Given the description of an element on the screen output the (x, y) to click on. 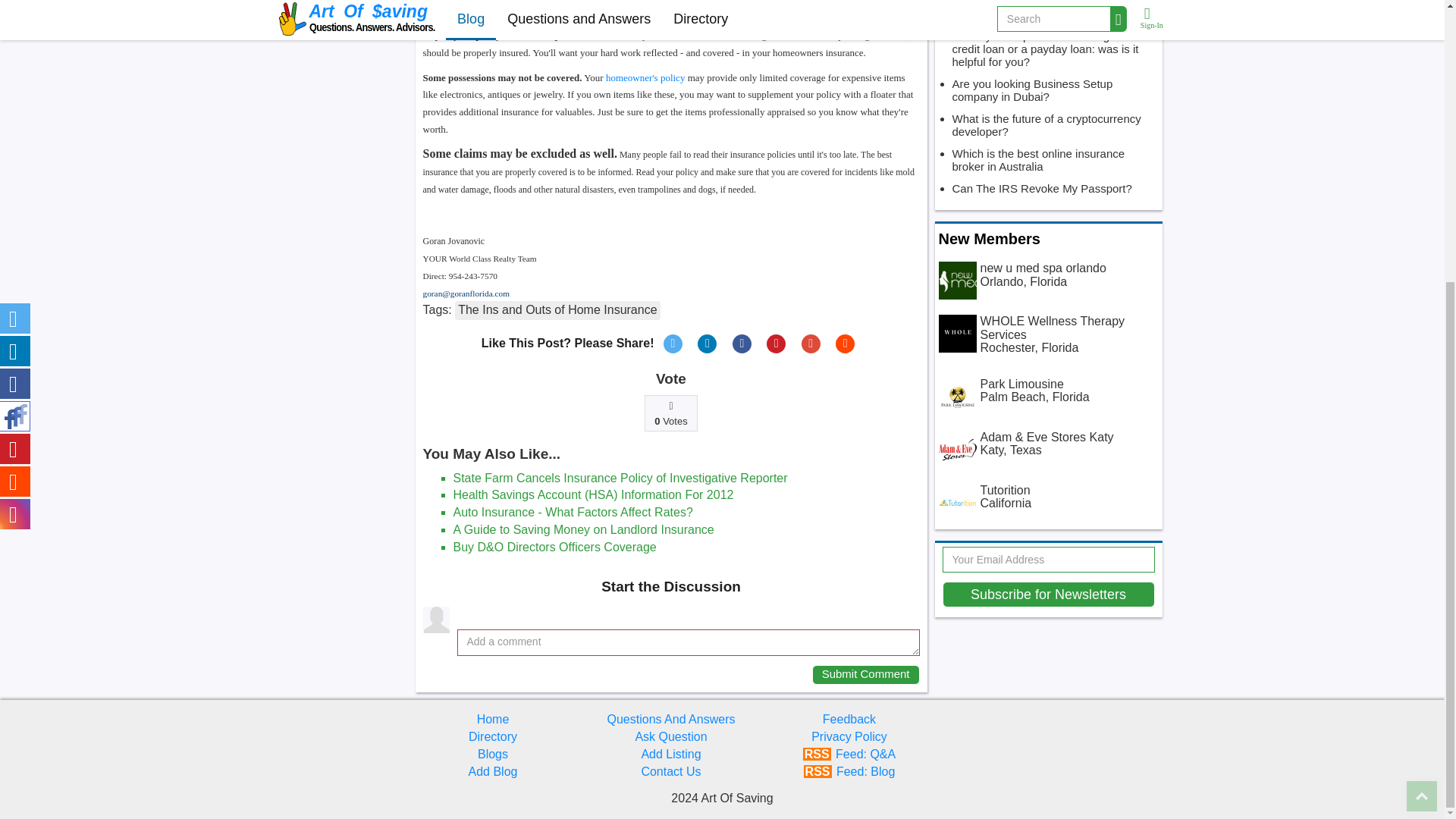
Submit Comment (866, 674)
